Given the description of an element on the screen output the (x, y) to click on. 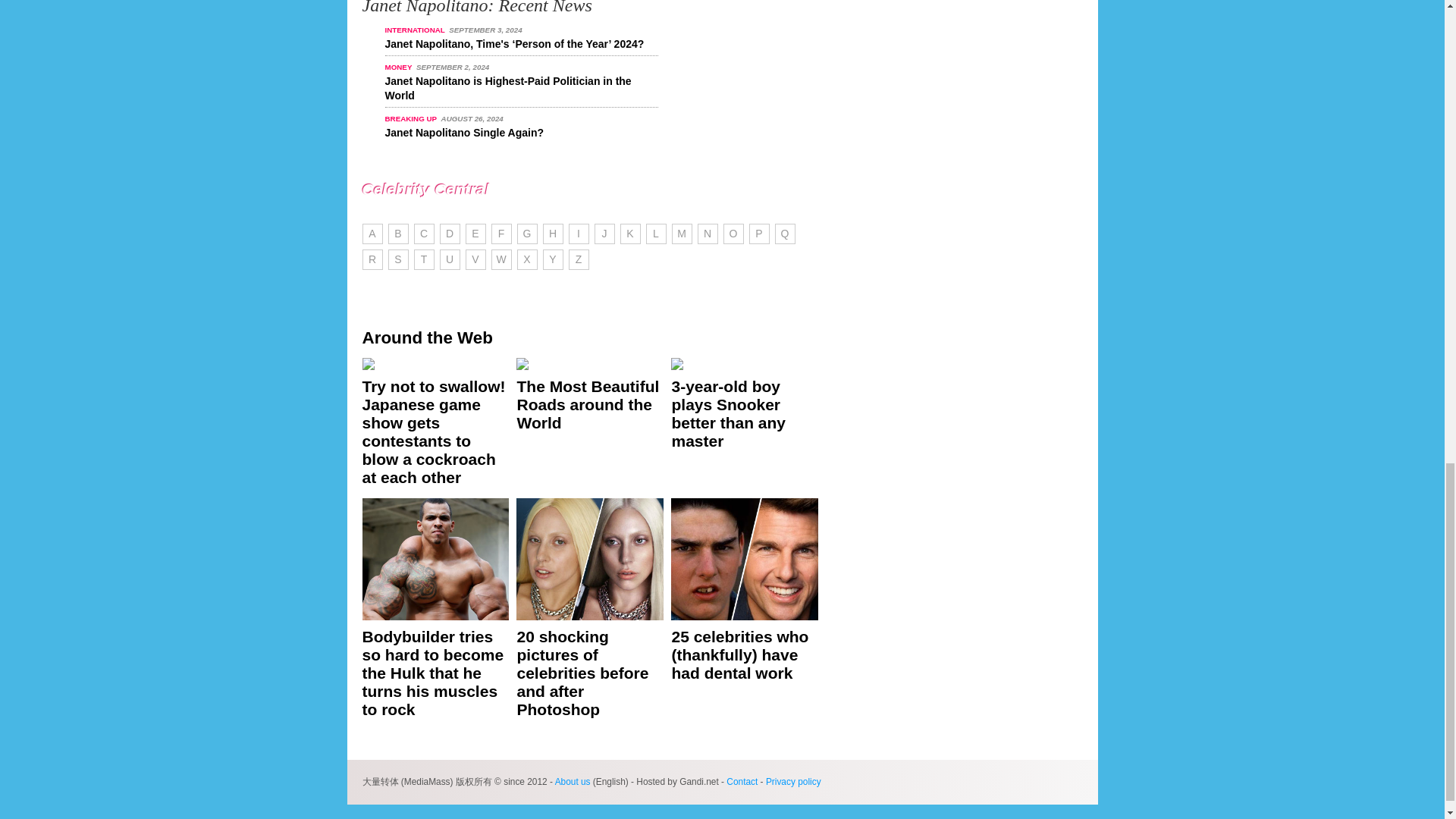
Break-Up Rumors: Janet Napolitano single again? (464, 132)
G (526, 233)
F (502, 233)
B (398, 233)
D (449, 233)
Janet Napolitano Single Again? (464, 132)
H (553, 233)
C (423, 233)
Janet Napolitano highest-paid in the world (508, 88)
E (475, 233)
